Given the description of an element on the screen output the (x, y) to click on. 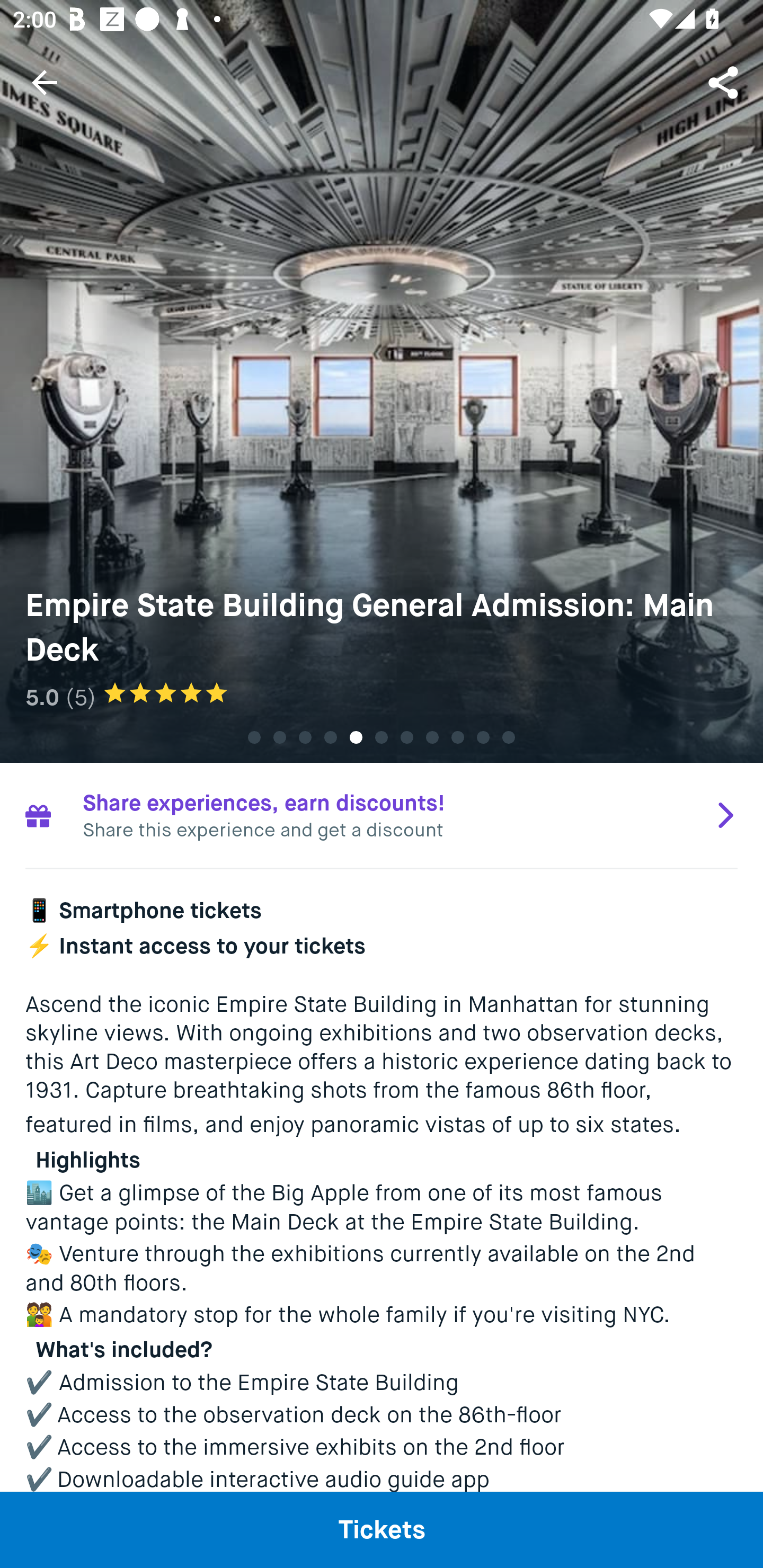
Navigate up (44, 82)
Share (724, 81)
(5) (80, 697)
Tickets (381, 1529)
